Given the description of an element on the screen output the (x, y) to click on. 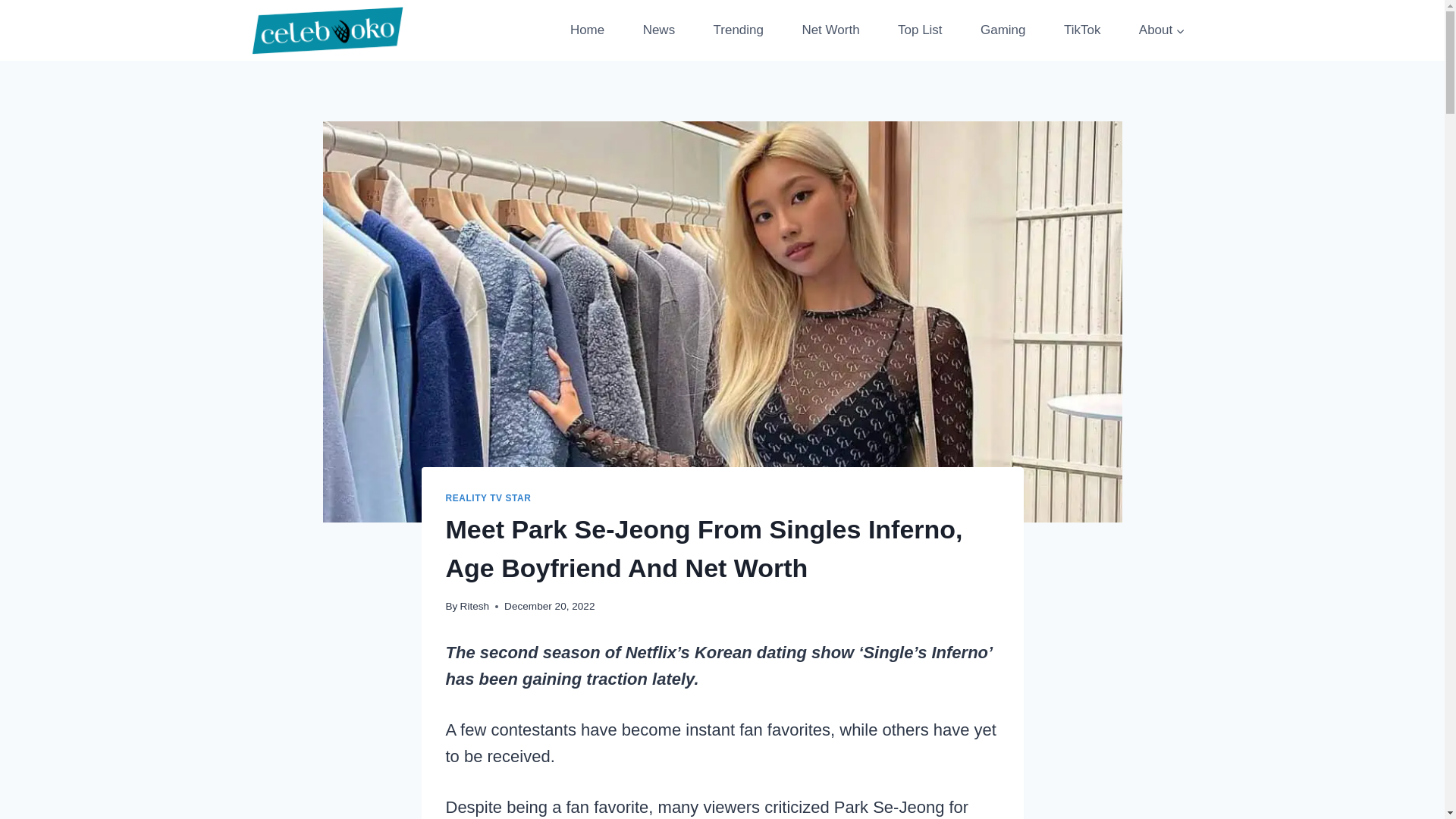
News (658, 30)
Top List (919, 30)
REALITY TV STAR (488, 498)
TikTok (1082, 30)
Gaming (1002, 30)
Home (587, 30)
Trending (737, 30)
About (1162, 30)
Net Worth (830, 30)
Ritesh (474, 605)
